Given the description of an element on the screen output the (x, y) to click on. 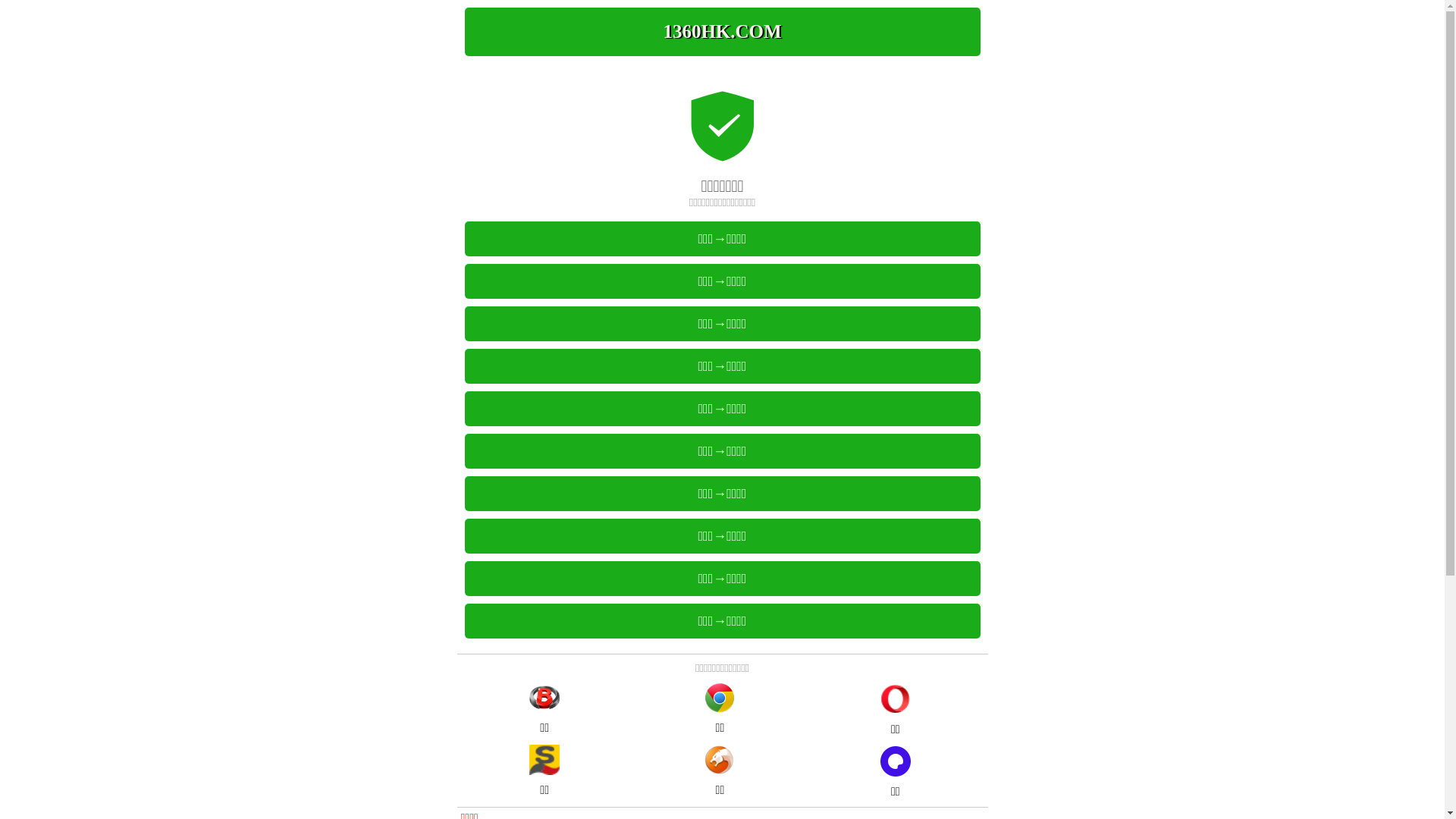
1369HK.COM Element type: text (721, 31)
